Given the description of an element on the screen output the (x, y) to click on. 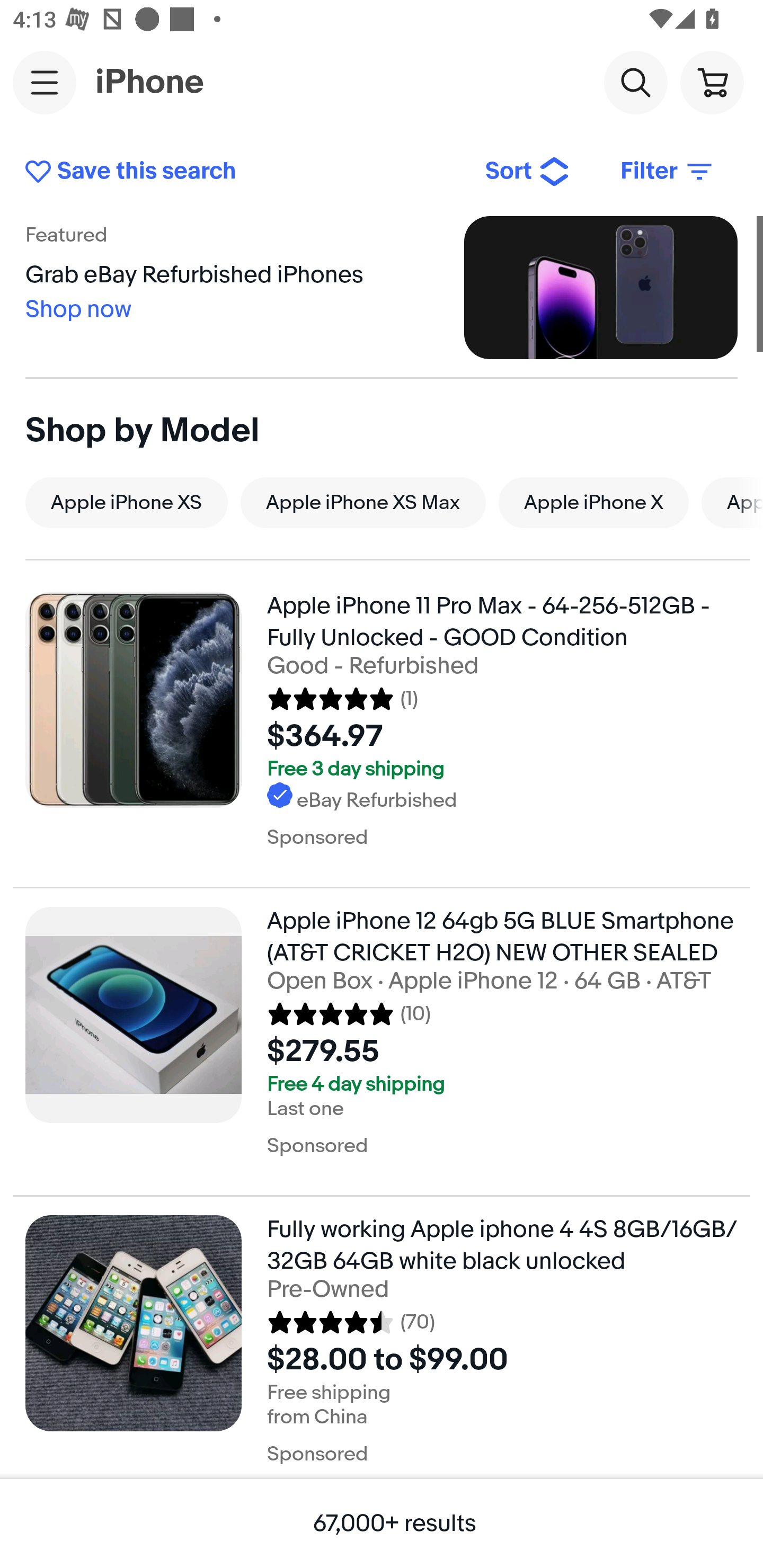
Main navigation, open (44, 82)
Search (635, 81)
Cart button shopping cart (711, 81)
Save this search (241, 171)
Sort (527, 171)
Filter (667, 171)
Featured Grab eBay Refurbished iPhones Shop now (381, 287)
Apple iPhone XS Apple iPhone XS, Model (126, 502)
Apple iPhone XS Max Apple iPhone XS Max, Model (363, 502)
Apple iPhone X Apple iPhone X, Model (593, 502)
